Given the description of an element on the screen output the (x, y) to click on. 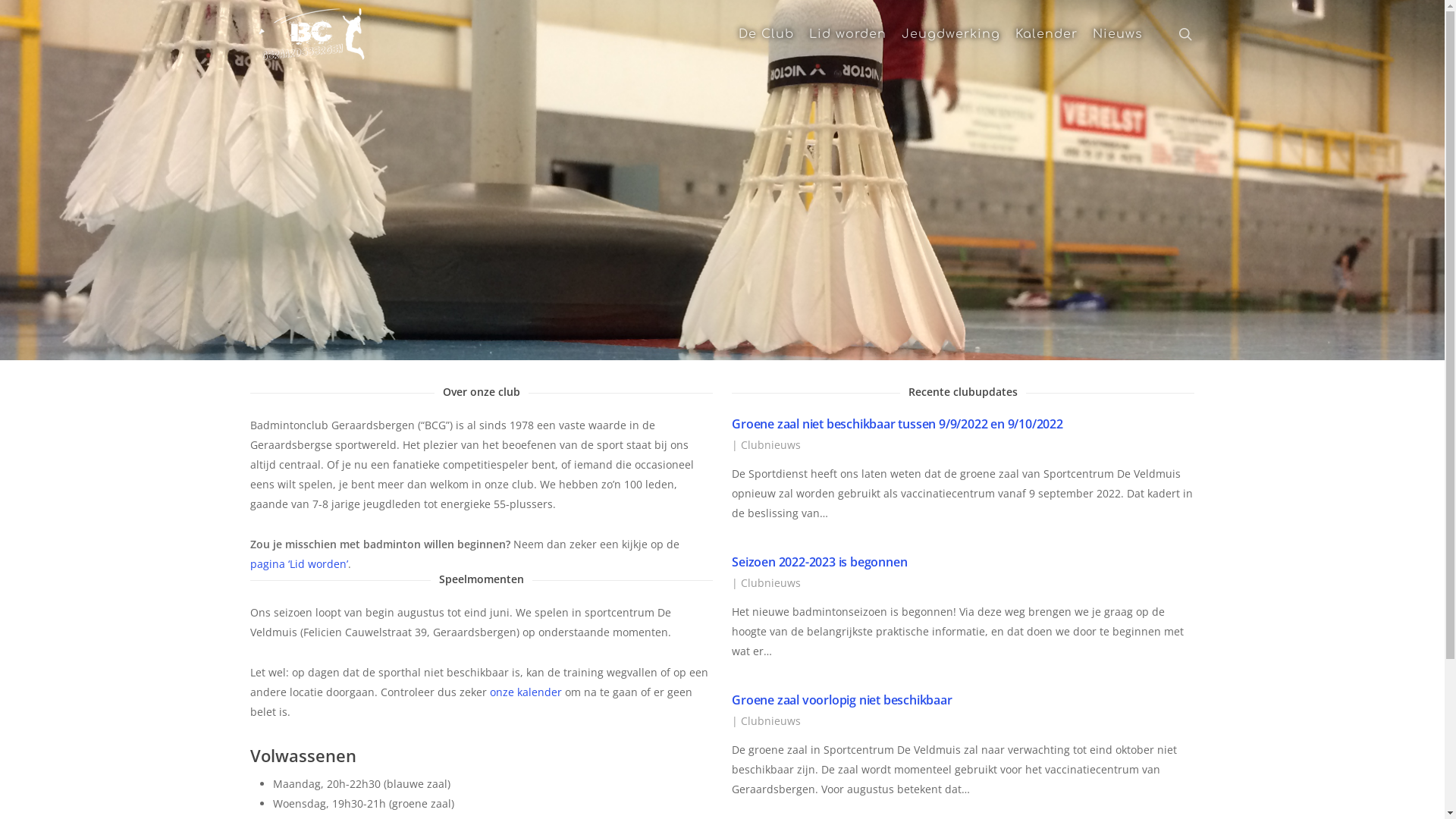
onze kalender Element type: text (525, 691)
Nieuws Element type: text (1117, 33)
Jeugdwerking Element type: text (950, 33)
Clubnieuws Element type: text (770, 582)
De Club Element type: text (765, 33)
Clubnieuws Element type: text (770, 444)
Lid worden Element type: text (847, 33)
Groene zaal voorlopig niet beschikbaar Element type: text (841, 699)
Clubnieuws Element type: text (770, 720)
Groene zaal niet beschikbaar tussen 9/9/2022 en 9/10/2022 Element type: text (897, 423)
search Element type: text (1185, 33)
Seizoen 2022-2023 is begonnen Element type: text (818, 561)
Kalender Element type: text (1046, 33)
